Given the description of an element on the screen output the (x, y) to click on. 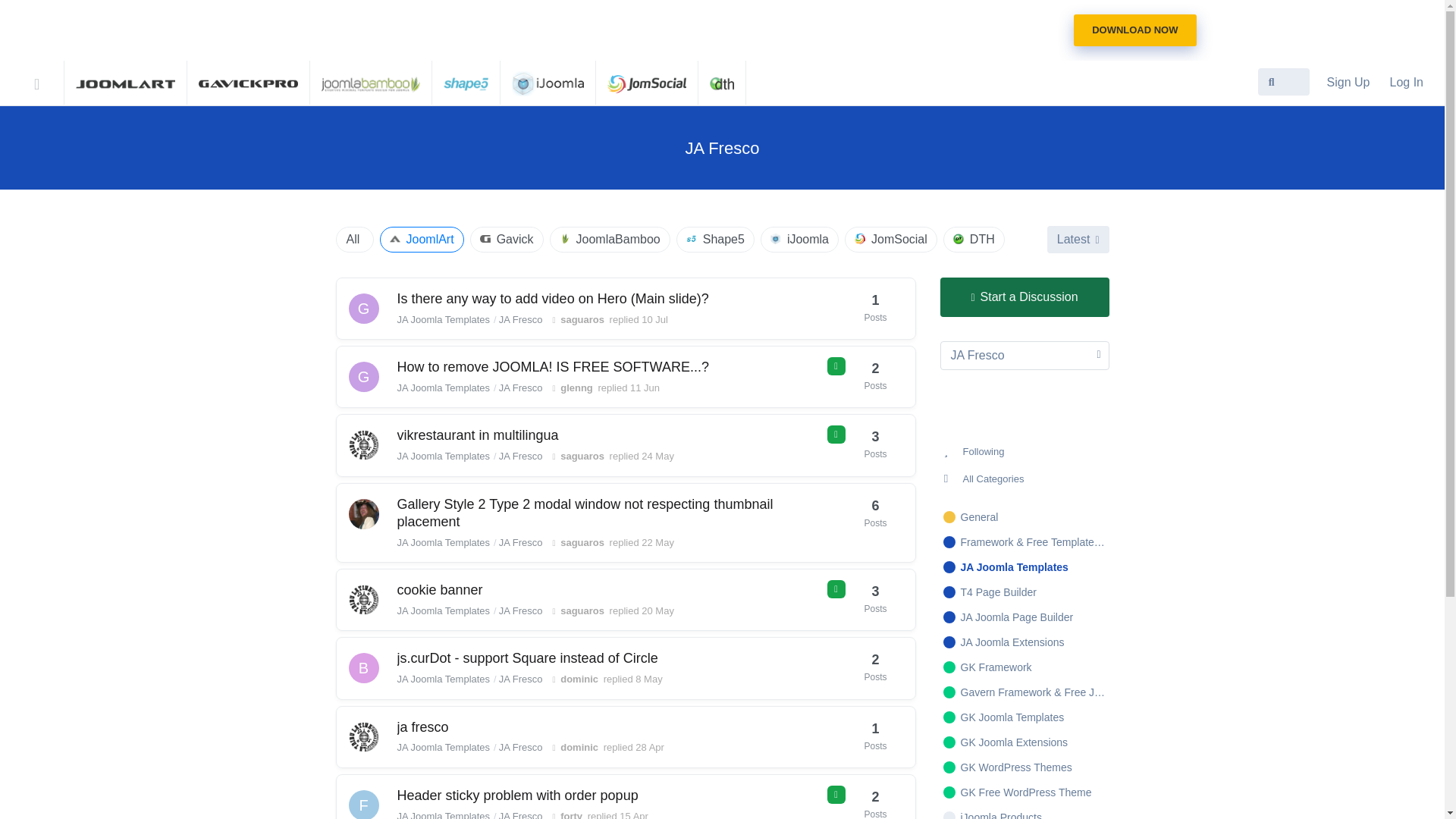
GAVICK (247, 82)
IJOOMLA (547, 82)
Gavick (506, 239)
Log In (1406, 81)
JoomlaBamboo Homepage (371, 82)
Gavick Homepage (247, 82)
JA Titan (1134, 29)
Support Central (46, 80)
JA Fresco (1024, 355)
JOOMLABAMBOO (371, 82)
